Given the description of an element on the screen output the (x, y) to click on. 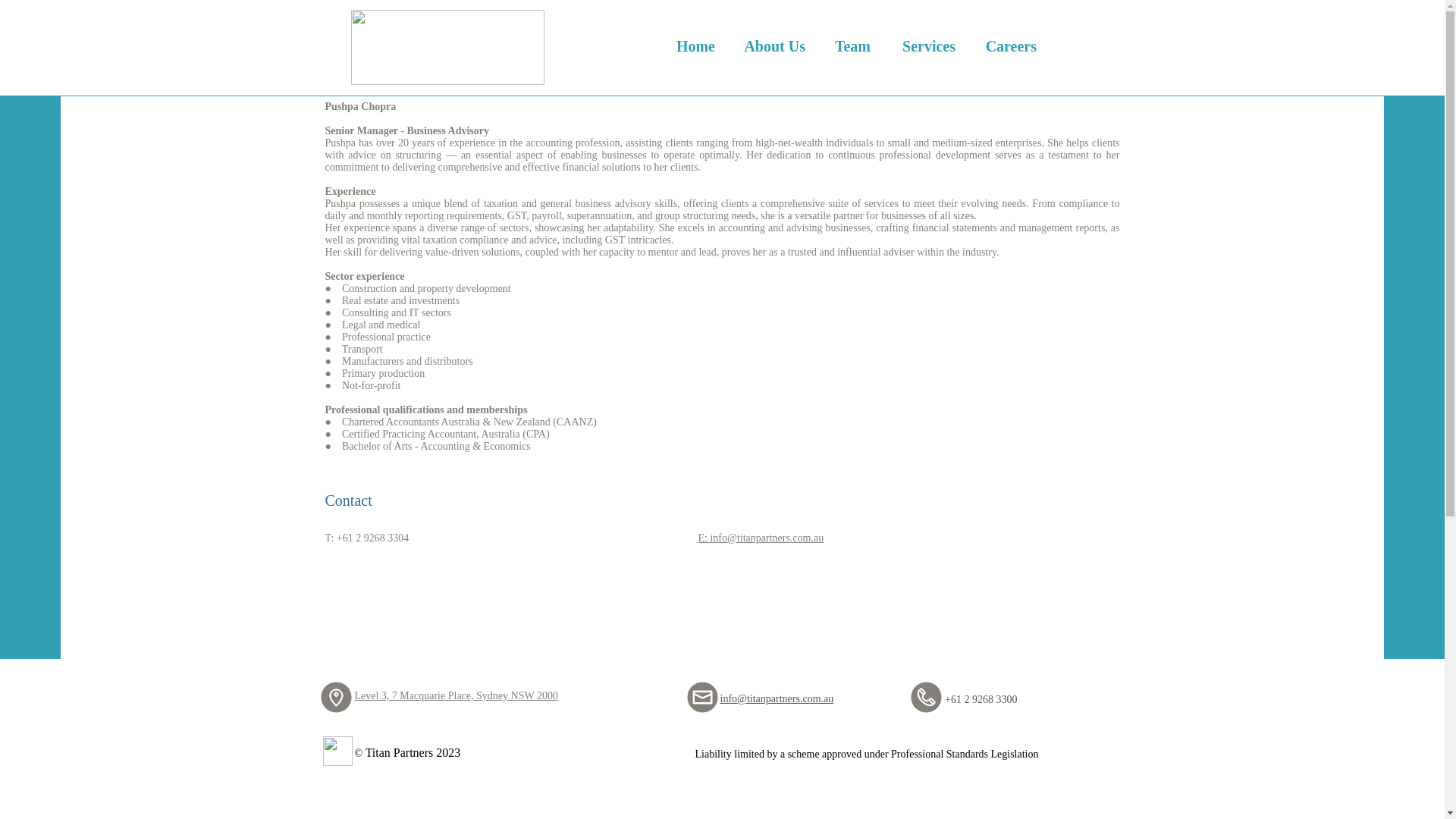
Home (694, 38)
Services (926, 38)
Team (850, 38)
Careers (1009, 38)
About Us (773, 38)
Level 3, 7 Macquarie Place, Sydney NSW 2000 (456, 695)
